Given the description of an element on the screen output the (x, y) to click on. 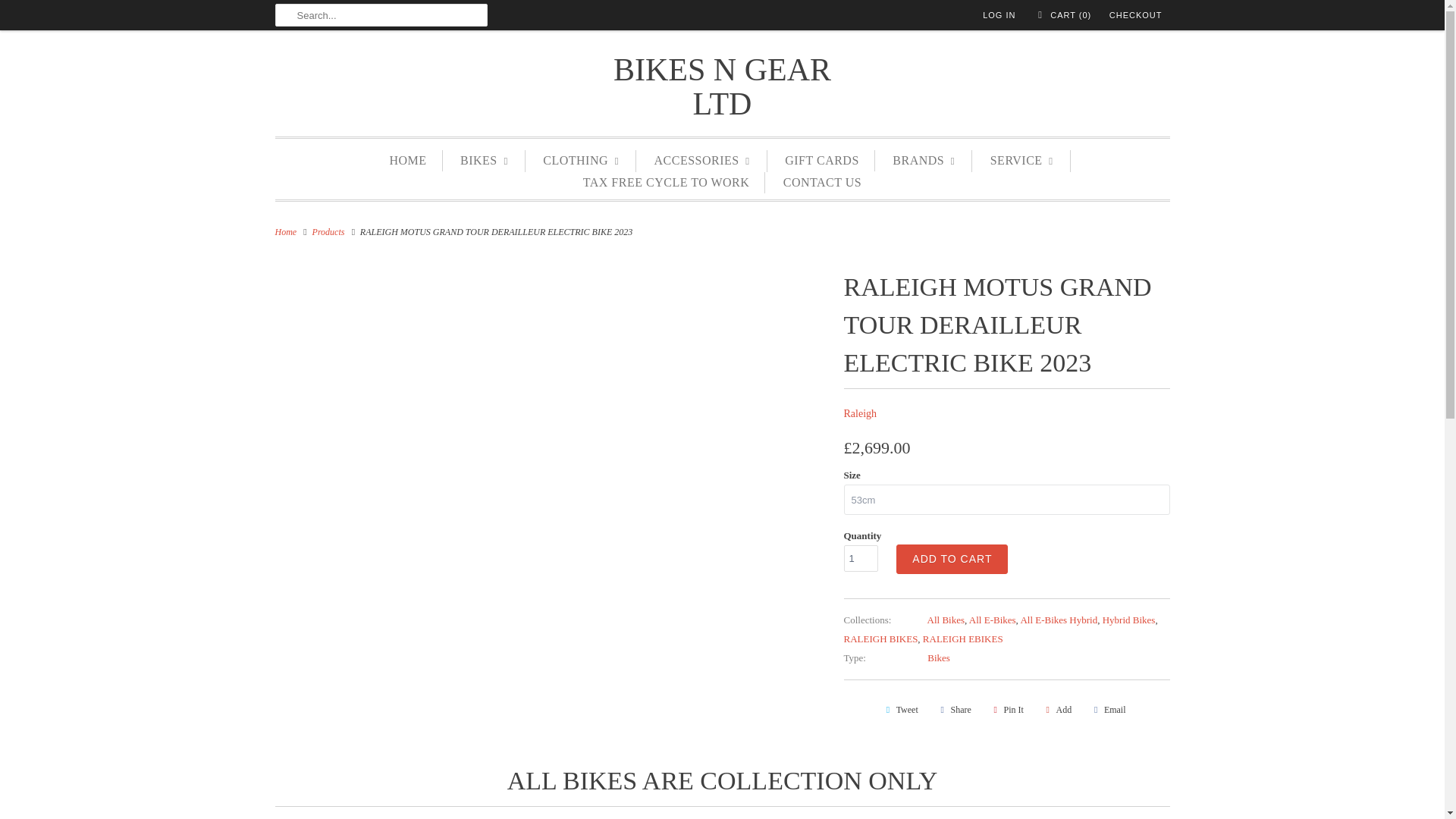
Browse All Bikes (945, 619)
Raleigh (859, 413)
CHECKOUT (1135, 15)
1 (860, 558)
Bikes n Gear Ltd (286, 231)
Browse Hybrid Bikes (1129, 619)
BIKES N GEAR LTD (722, 87)
Browse All E-Bikes Hybrid (1058, 619)
LOG IN (998, 15)
HOME (407, 160)
